Given the description of an element on the screen output the (x, y) to click on. 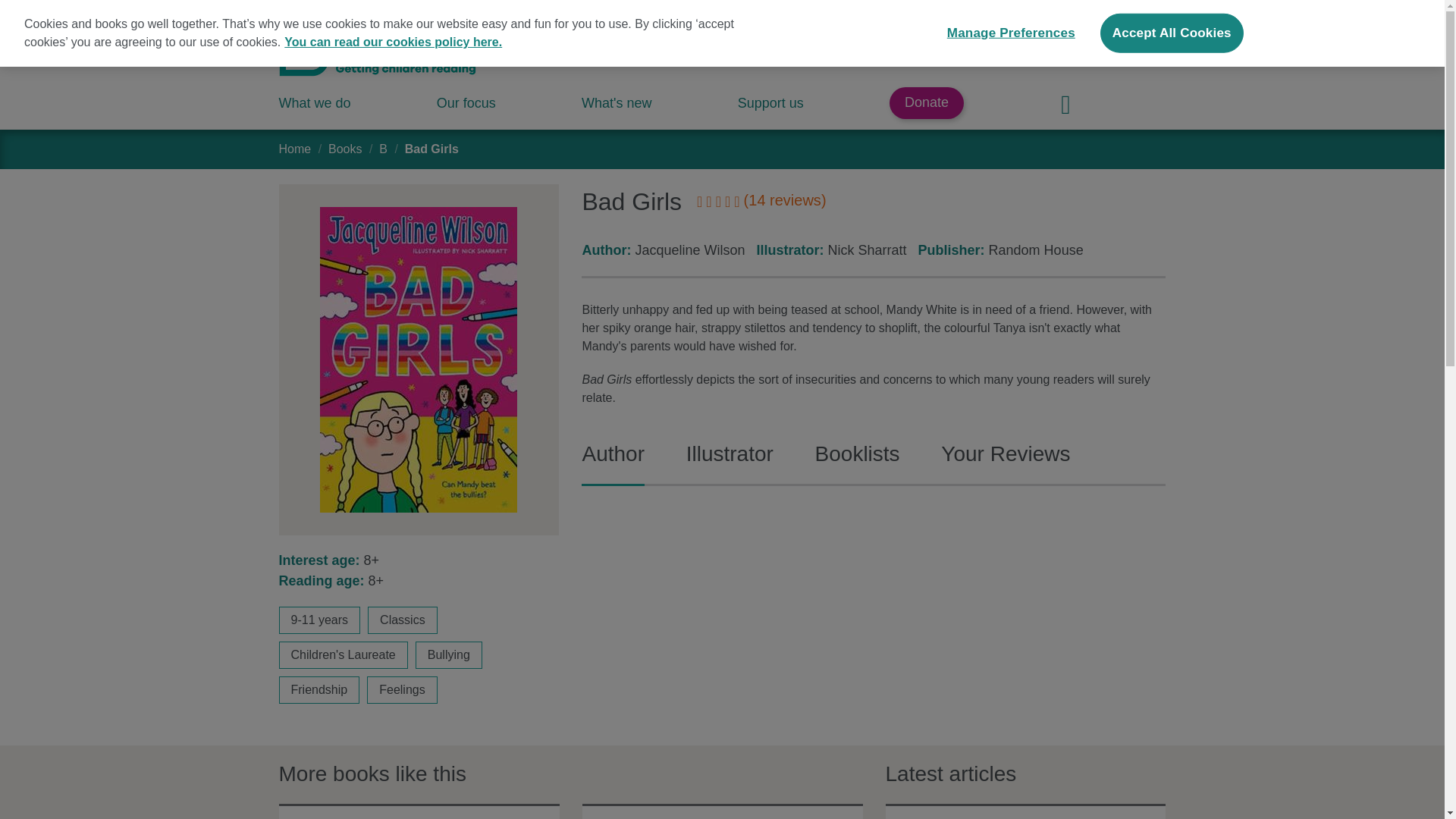
Practitioner Area (1087, 22)
What we do (314, 103)
Home (295, 148)
BookTrust Logo (377, 51)
